Given the description of an element on the screen output the (x, y) to click on. 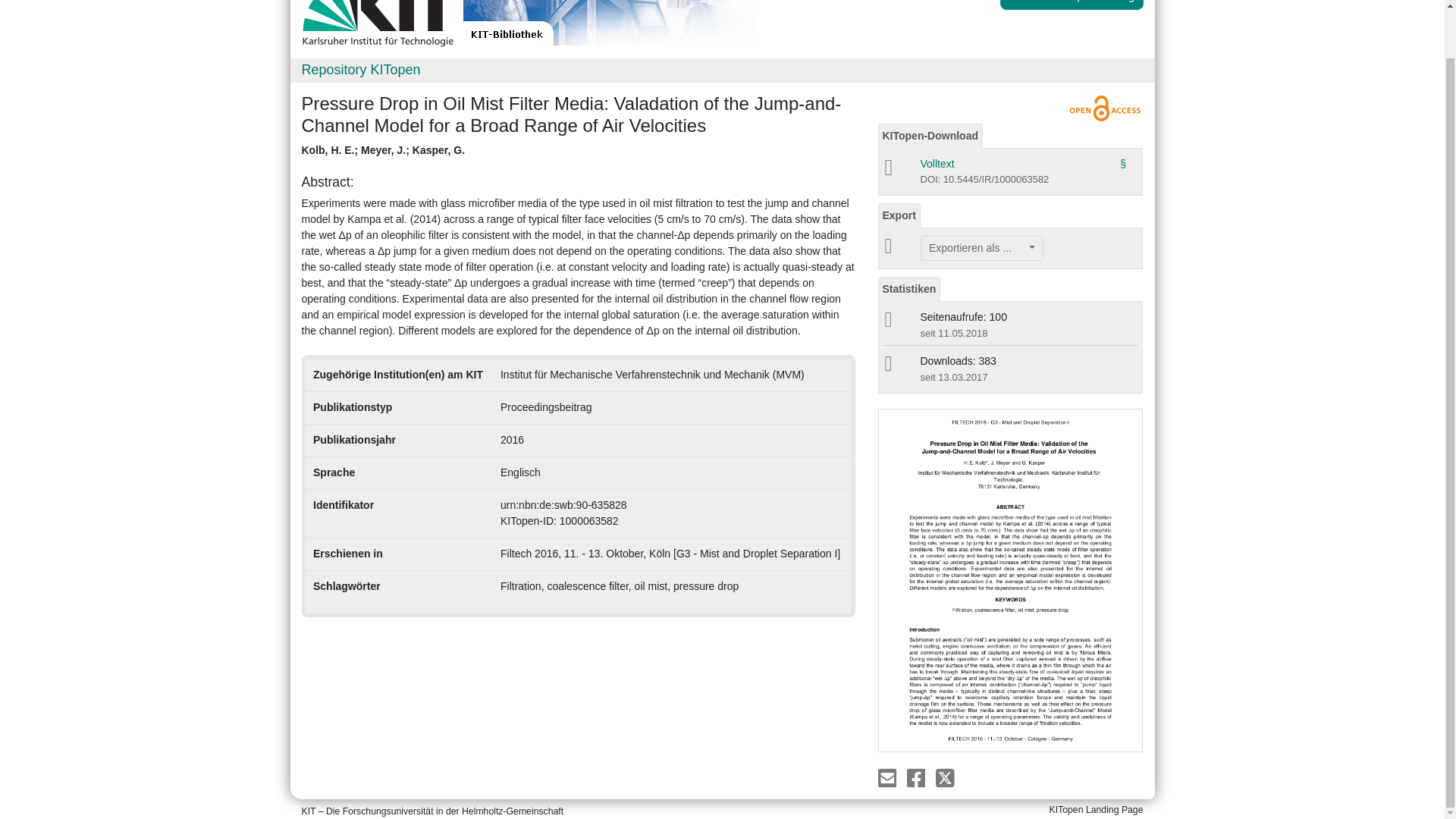
Repository KITopen (360, 69)
Export (898, 215)
KITopen-Download (930, 135)
Suche im KITopen-Katalog (1071, 4)
Bei Facebook teilen (917, 776)
Per E-Mail teilen (888, 776)
Volltext (937, 163)
Exportieren als ...     (981, 248)
Statistiken (908, 289)
Bei X teilen (945, 776)
